Given the description of an element on the screen output the (x, y) to click on. 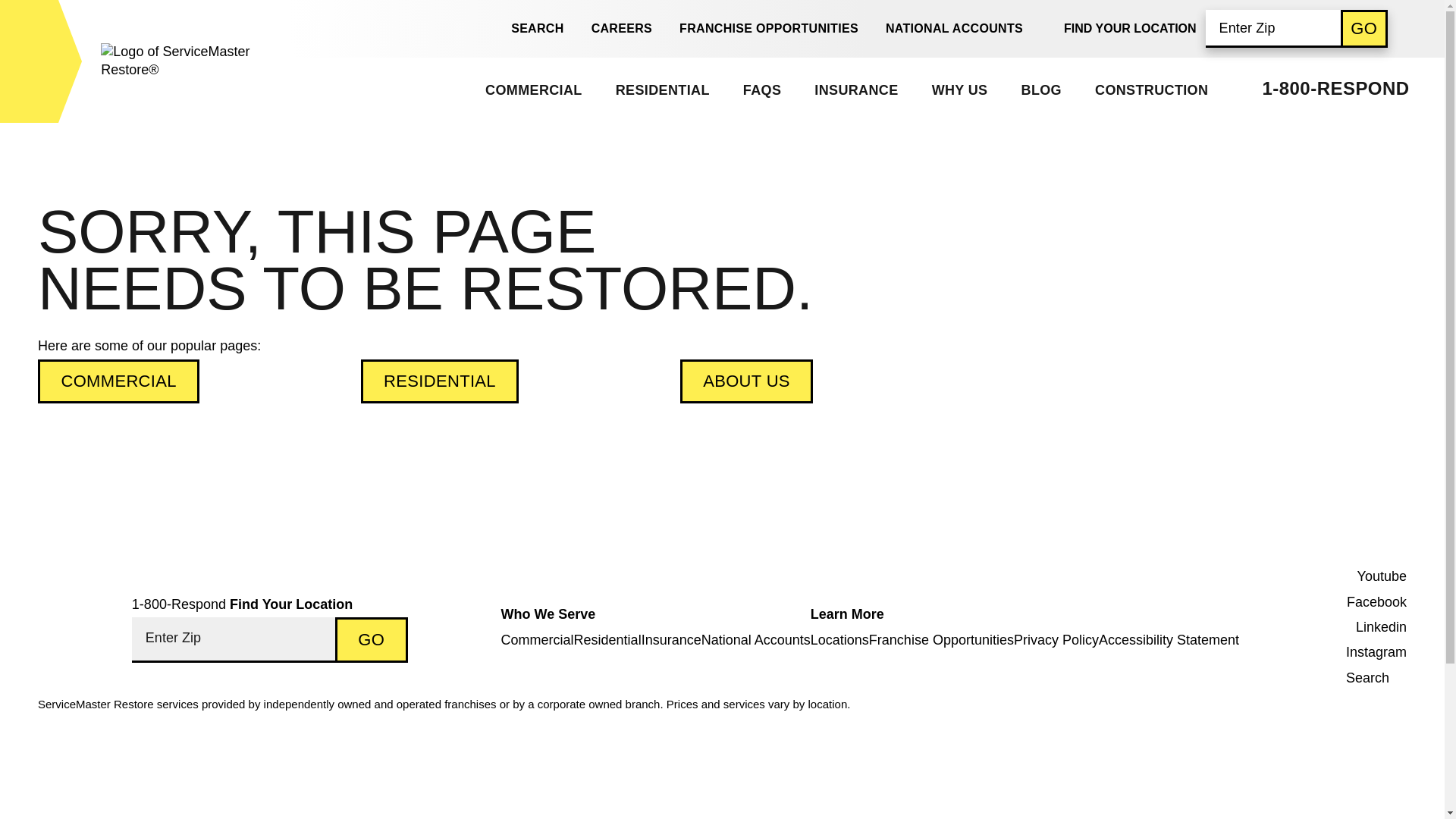
FAQS (761, 89)
Linkedin (1369, 627)
GO (1363, 27)
INSURANCE (855, 89)
WHY US (959, 89)
FRANCHISE OPPORTUNITIES (768, 28)
RESIDENTIAL (661, 89)
COMMERCIAL (532, 89)
FIND YOUR LOCATION (1130, 28)
NATIONAL ACCOUNTS (954, 28)
Facebook (1369, 602)
SEARCH (529, 28)
CAREERS (621, 28)
Youtube (1369, 576)
